Given the description of an element on the screen output the (x, y) to click on. 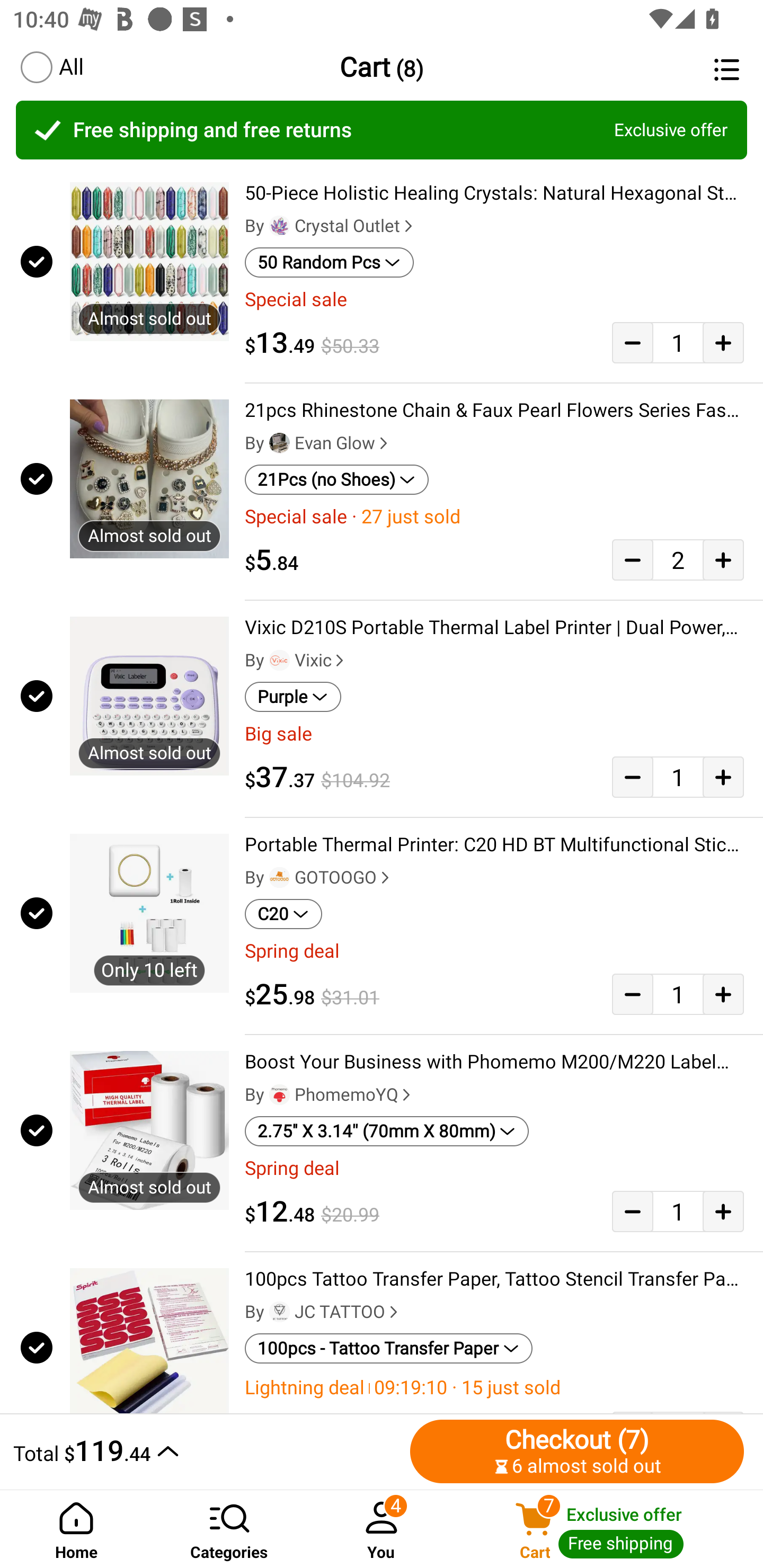
Select all tick button All (51, 67)
Free shipping and free returns Exclusive offer (381, 129)
Product checkbox checked (35, 260)
By Crystal Outlet (330, 226)
50 Random Pcs (328, 262)
Decrease quantity button (632, 342)
1 (677, 342)
Add quantity button (722, 342)
Product checkbox checked (35, 478)
By Evan Glow (317, 442)
21Pcs (no Shoes) (336, 479)
Decrease quantity button (632, 559)
2 (677, 559)
Add quantity button (722, 559)
Product checkbox checked (35, 696)
By Vixic (295, 660)
Purple (292, 696)
Big sale (493, 733)
Decrease quantity button (632, 776)
1 (677, 776)
Add quantity button (722, 776)
Product checkbox checked (35, 913)
By GOTOOGO (318, 877)
C20 (282, 913)
Spring deal (493, 951)
Decrease quantity button (632, 993)
1 (677, 993)
Add quantity button (722, 993)
Product checkbox checked (35, 1130)
By PhomemoYQ (329, 1095)
2.75'' X 3.14'' (70mm X 80mm) (386, 1131)
Spring deal (493, 1168)
Decrease quantity button (632, 1211)
1 (677, 1211)
Add quantity button (722, 1211)
Product checkbox checked (35, 1344)
By JC TATTOO (322, 1311)
100pcs - Tattoo Transfer Paper (388, 1348)
Lightning deal | ￼ · 15 just sold (493, 1387)
Total $119.44 (206, 1450)
Checkout Checkout (7) ￼6 almost sold out (576, 1451)
Home (76, 1528)
Categories (228, 1528)
You 4 You (381, 1528)
Cart 7 Cart Exclusive offer (610, 1528)
